Given the description of an element on the screen output the (x, y) to click on. 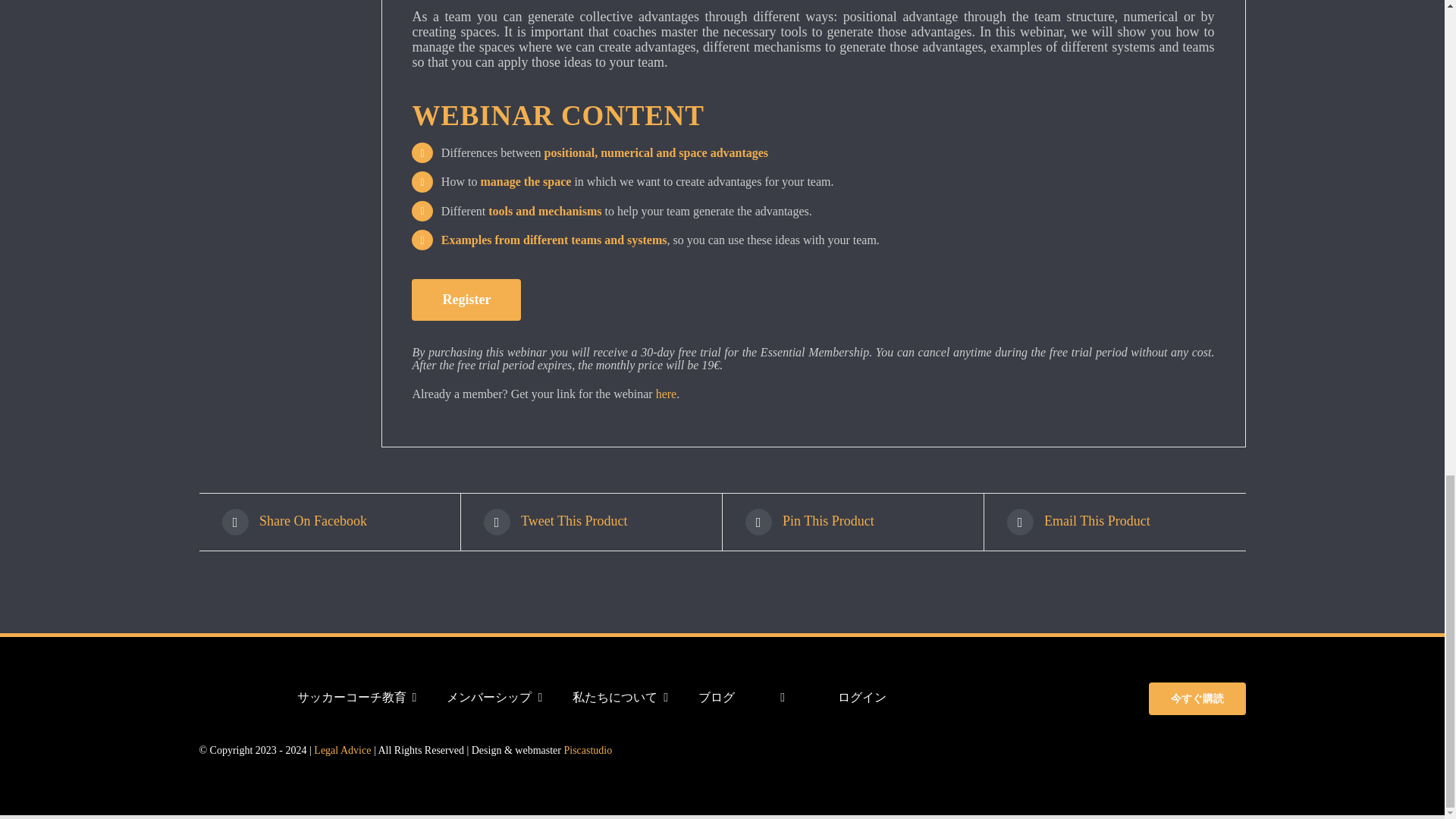
here (666, 393)
Share On Facebook (328, 521)
Pin This Product (851, 521)
Register (466, 300)
Email This Product (1115, 521)
Tweet This Product (590, 521)
